Given the description of an element on the screen output the (x, y) to click on. 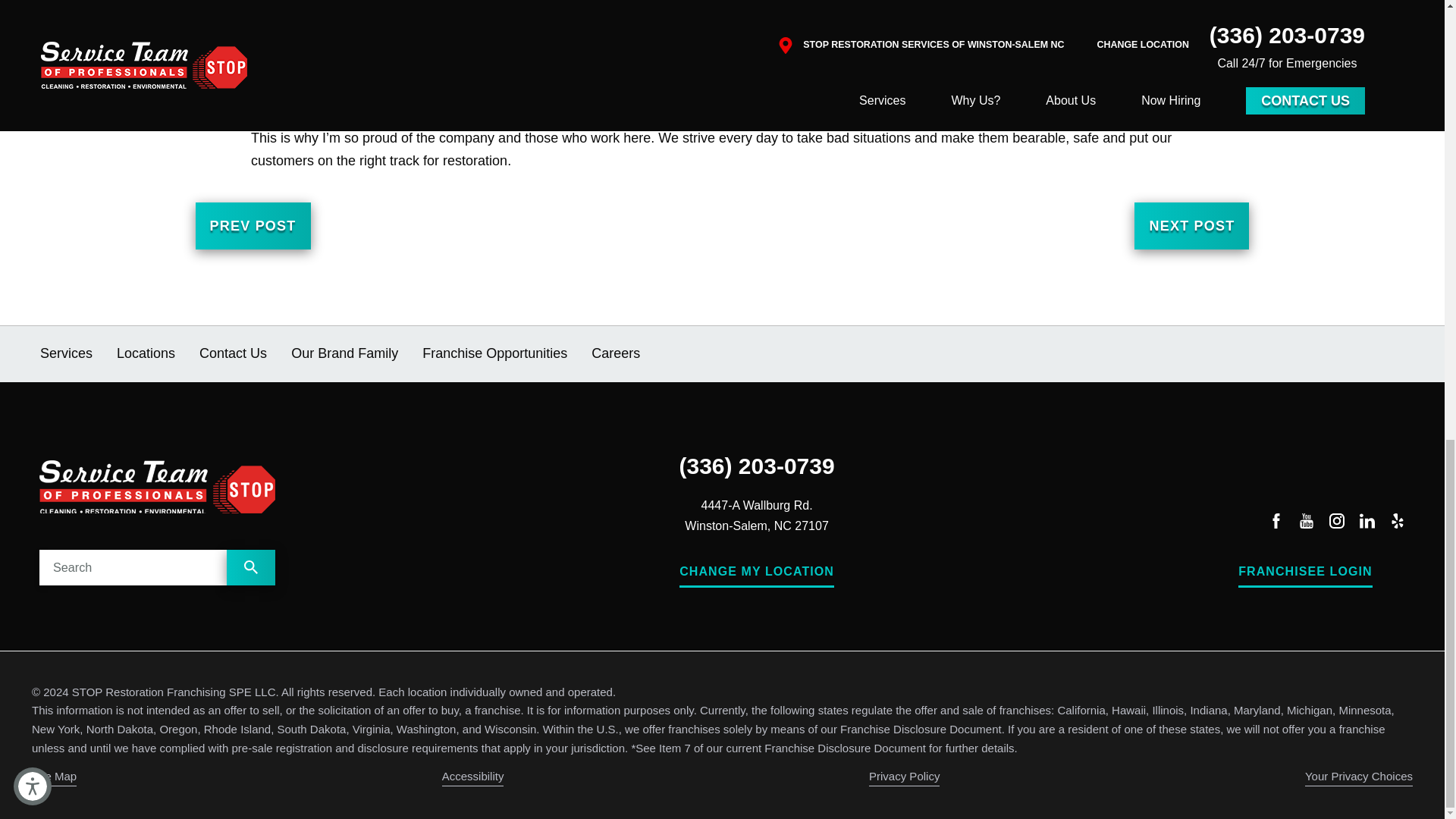
YouTube (1306, 523)
Facebook (1276, 523)
Yelp (1397, 523)
Instagram (1336, 523)
LinkedIn (1366, 523)
STOP Restoration (157, 486)
